Given the description of an element on the screen output the (x, y) to click on. 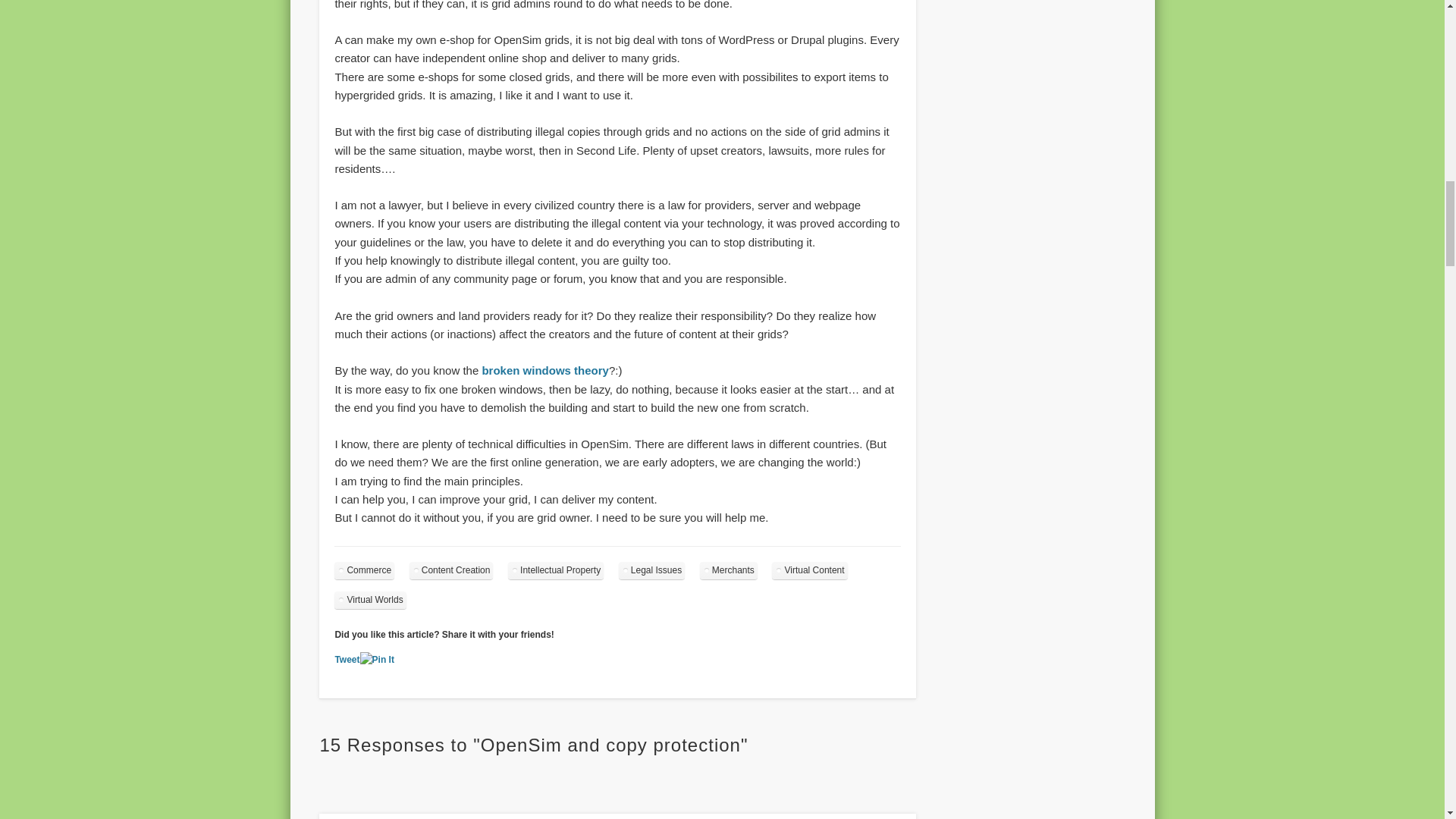
broken windows theory (544, 369)
Pin It (376, 659)
Virtual Content (809, 570)
Virtual Worlds (370, 600)
Commerce (364, 570)
Intellectual Property (556, 570)
Merchants (728, 570)
Legal Issues (651, 570)
Tweet (346, 659)
Content Creation (451, 570)
